Given the description of an element on the screen output the (x, y) to click on. 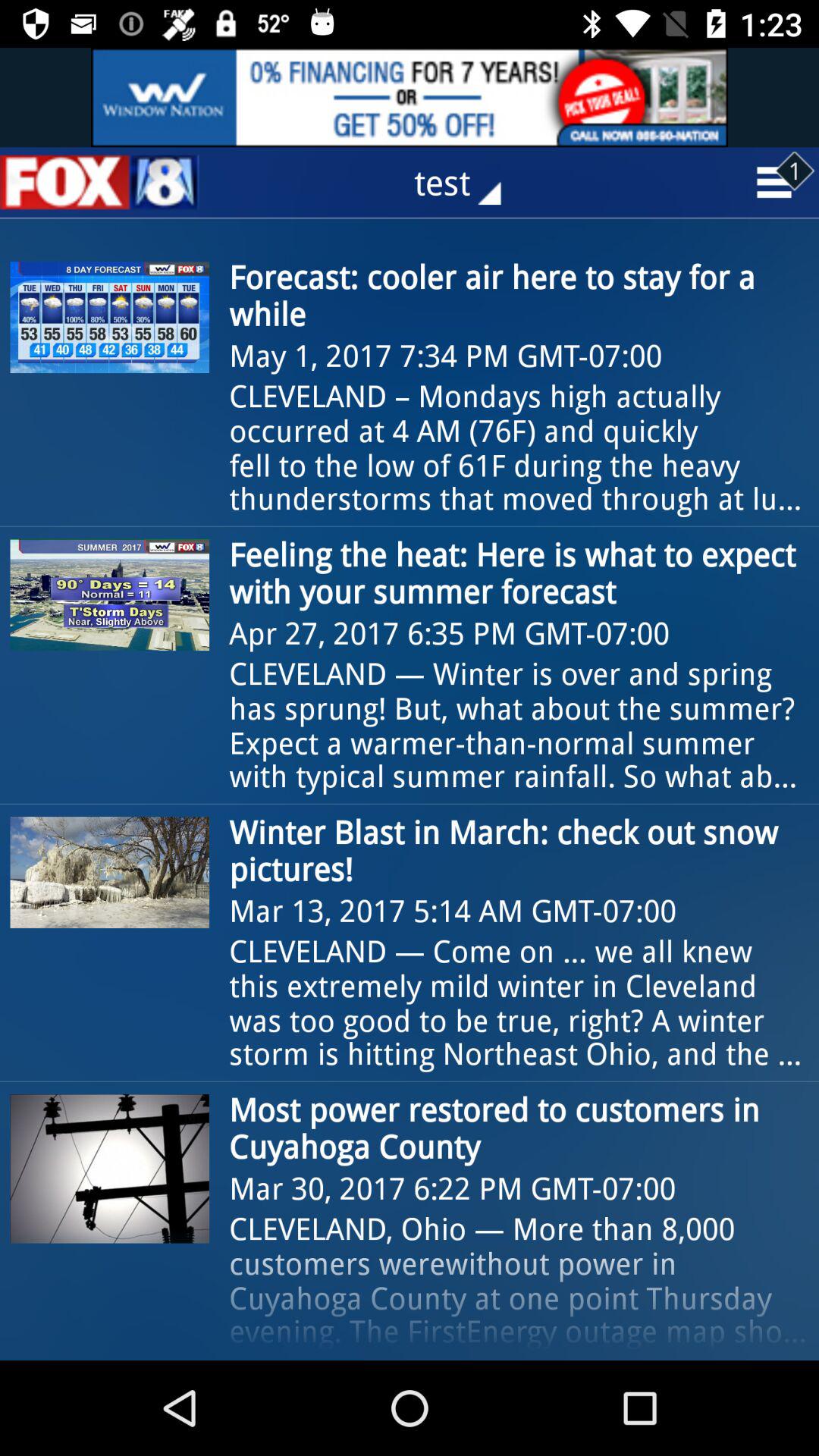
launch test (468, 182)
